Given the description of an element on the screen output the (x, y) to click on. 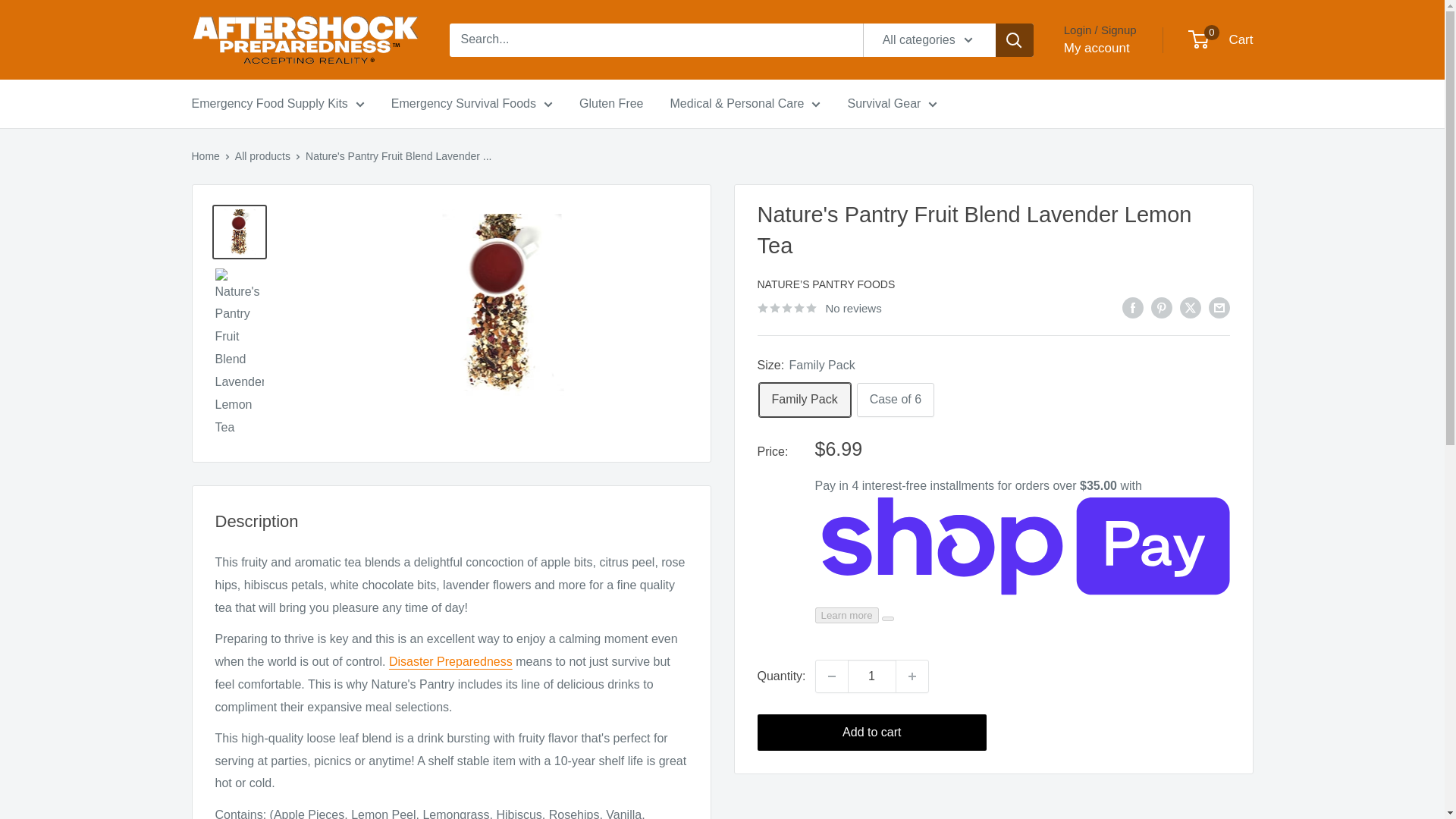
Family Pack (804, 399)
1 (871, 676)
Increase quantity by 1 (912, 676)
Case of 6 (895, 399)
Decrease quantity by 1 (831, 676)
